Given the description of an element on the screen output the (x, y) to click on. 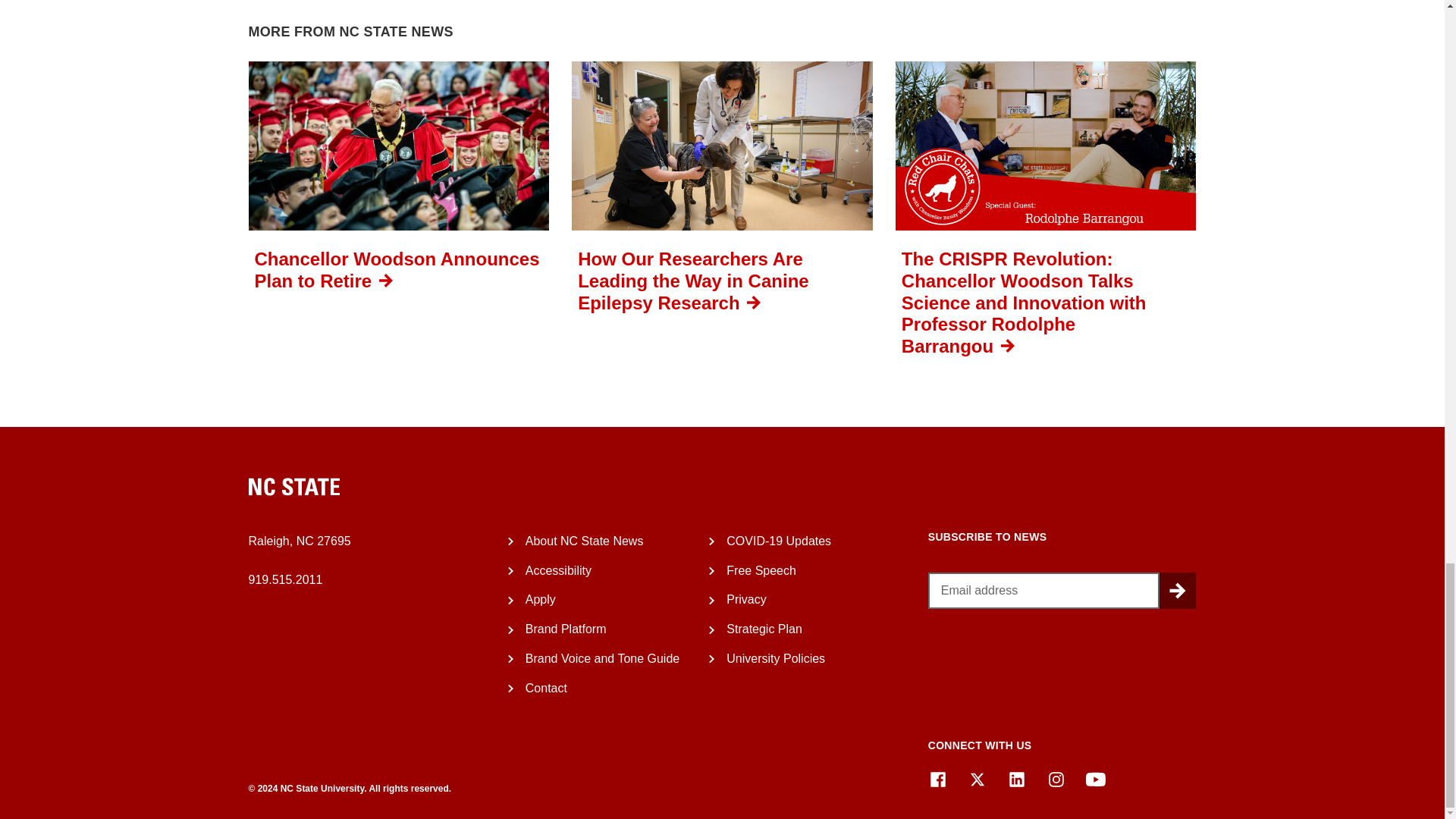
YouTube (1095, 779)
LinkedIn (1016, 779)
X (977, 779)
Instagram (1055, 779)
Facebook (937, 779)
